Given the description of an element on the screen output the (x, y) to click on. 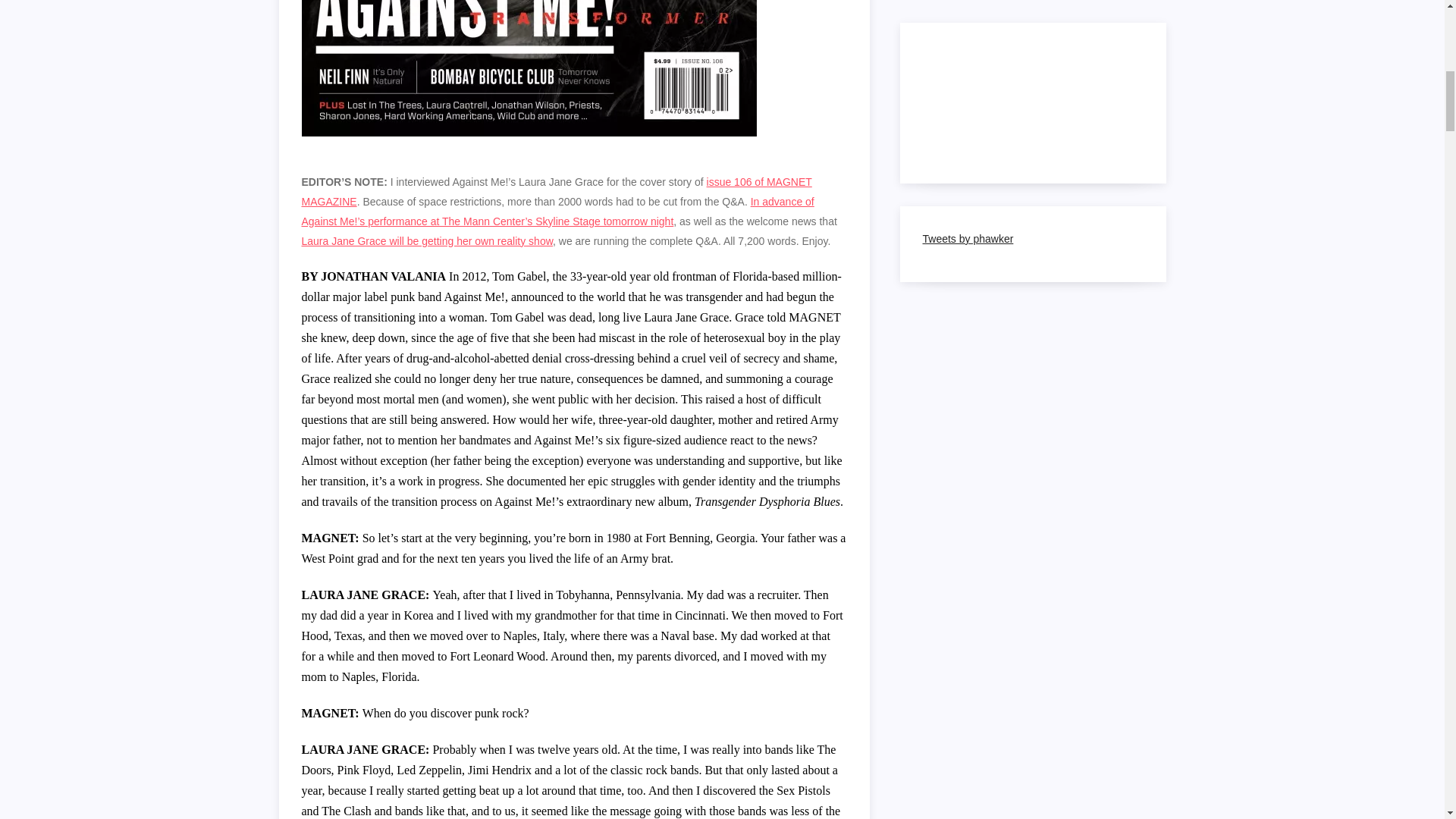
issue 106 of MAGNET MAGAZINE (556, 192)
MAGNET Against Me! Cover (529, 68)
Laura Jane Grace will be getting her own reality show (427, 241)
